Given the description of an element on the screen output the (x, y) to click on. 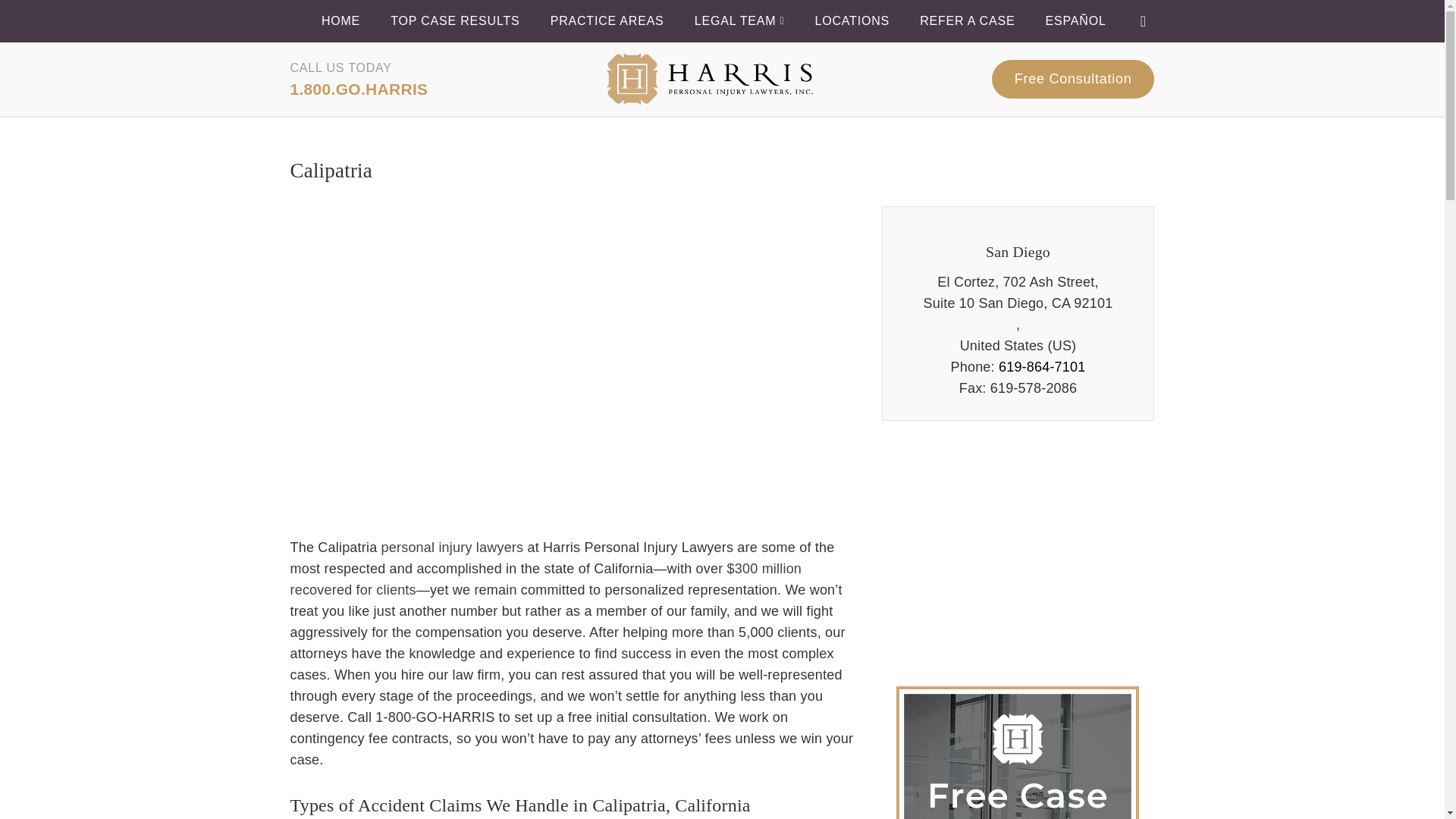
REFER A CASE (967, 20)
LEGAL TEAM (739, 20)
TOP CASE RESULTS (454, 20)
Free Consultation (1072, 78)
PRACTICE AREAS (606, 20)
1.800.GO.HARRIS (358, 88)
personal injury lawyers (452, 547)
619-864-7101 (1042, 366)
LOCATIONS (850, 20)
HOME (340, 20)
